Given the description of an element on the screen output the (x, y) to click on. 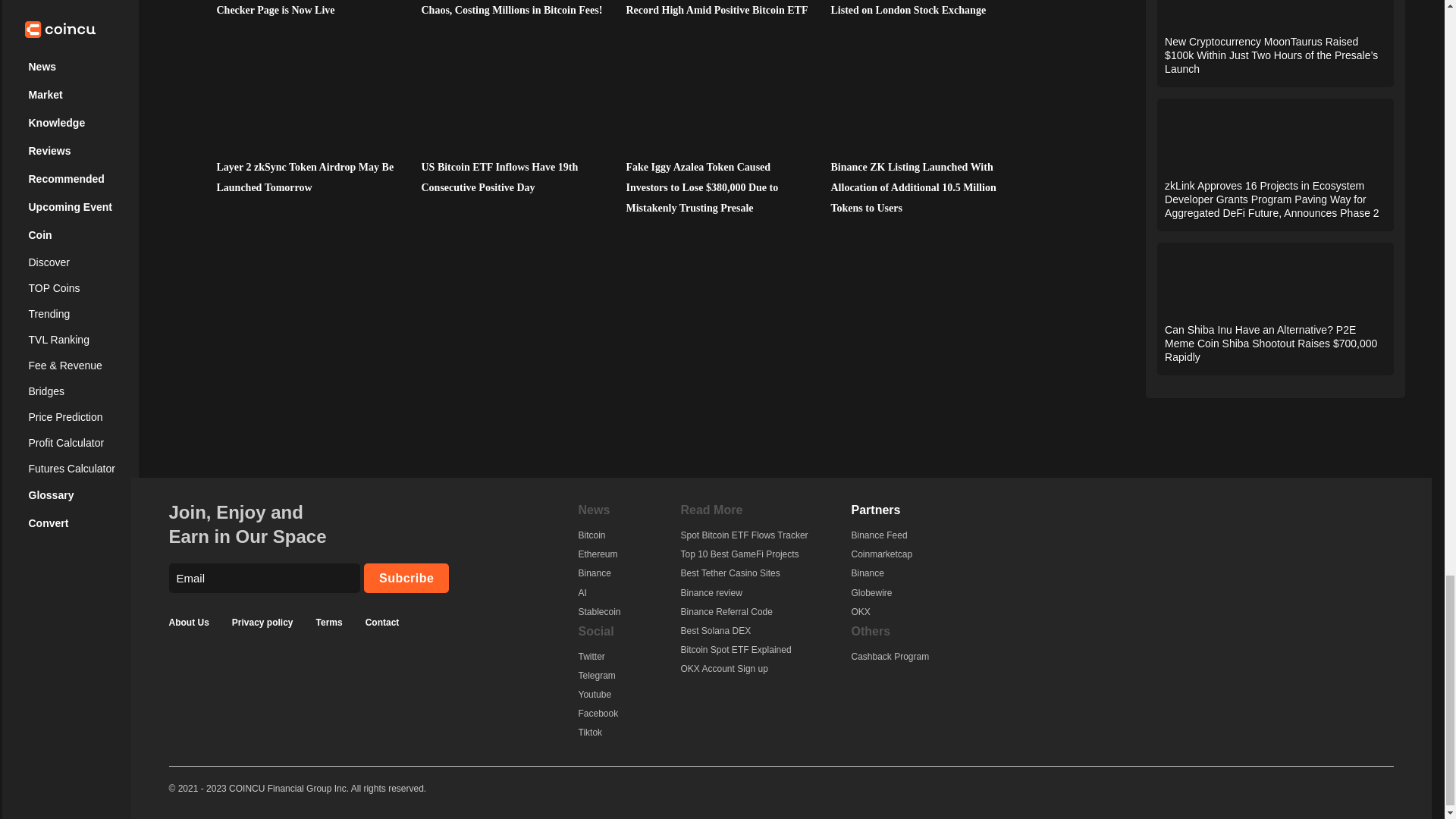
Subcribe (406, 577)
